Given the description of an element on the screen output the (x, y) to click on. 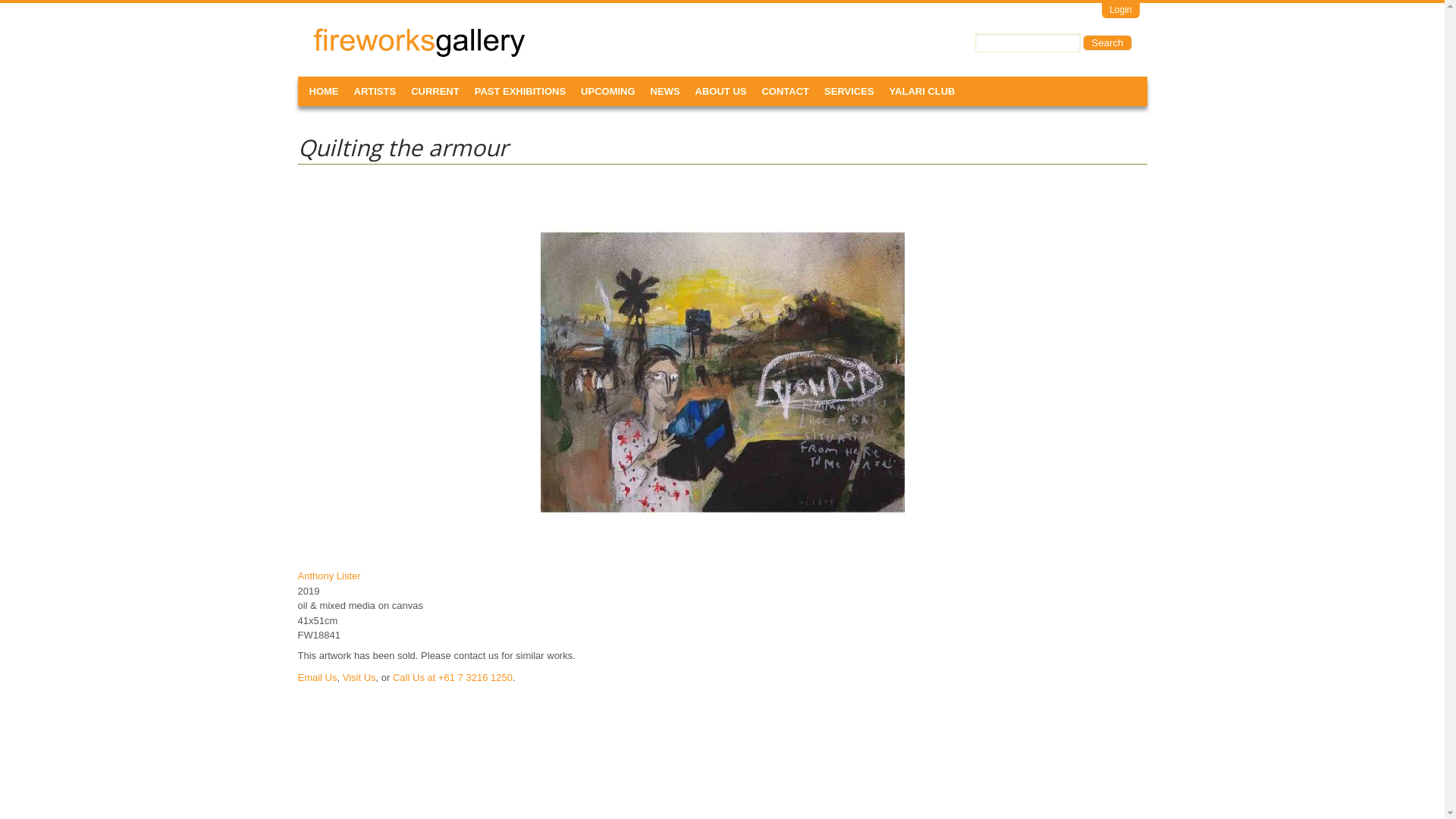
UPCOMING Element type: text (608, 91)
Enter the terms you wish to search for. Element type: hover (1027, 42)
Search Element type: text (1106, 42)
NEWS Element type: text (665, 91)
CONTACT Element type: text (784, 91)
CURRENT Element type: text (435, 91)
Quilting the armour Element type: hover (721, 553)
HOME Element type: text (323, 91)
ABOUT US Element type: text (720, 91)
Skip to main content Element type: text (44, 0)
YALARI CLUB Element type: text (922, 91)
Home page Element type: hover (418, 53)
ARTISTS Element type: text (374, 91)
Call Us at +61 7 3216 1250 Element type: text (452, 677)
FireWorks Gallery Element type: text (366, 47)
Anthony Lister Element type: text (328, 575)
Login Element type: text (1120, 10)
Quilting the armour Element type: hover (721, 372)
Email Us Element type: text (316, 677)
PAST EXHIBITIONS Element type: text (520, 91)
Visit Us Element type: text (359, 677)
SERVICES Element type: text (848, 91)
